Given the description of an element on the screen output the (x, y) to click on. 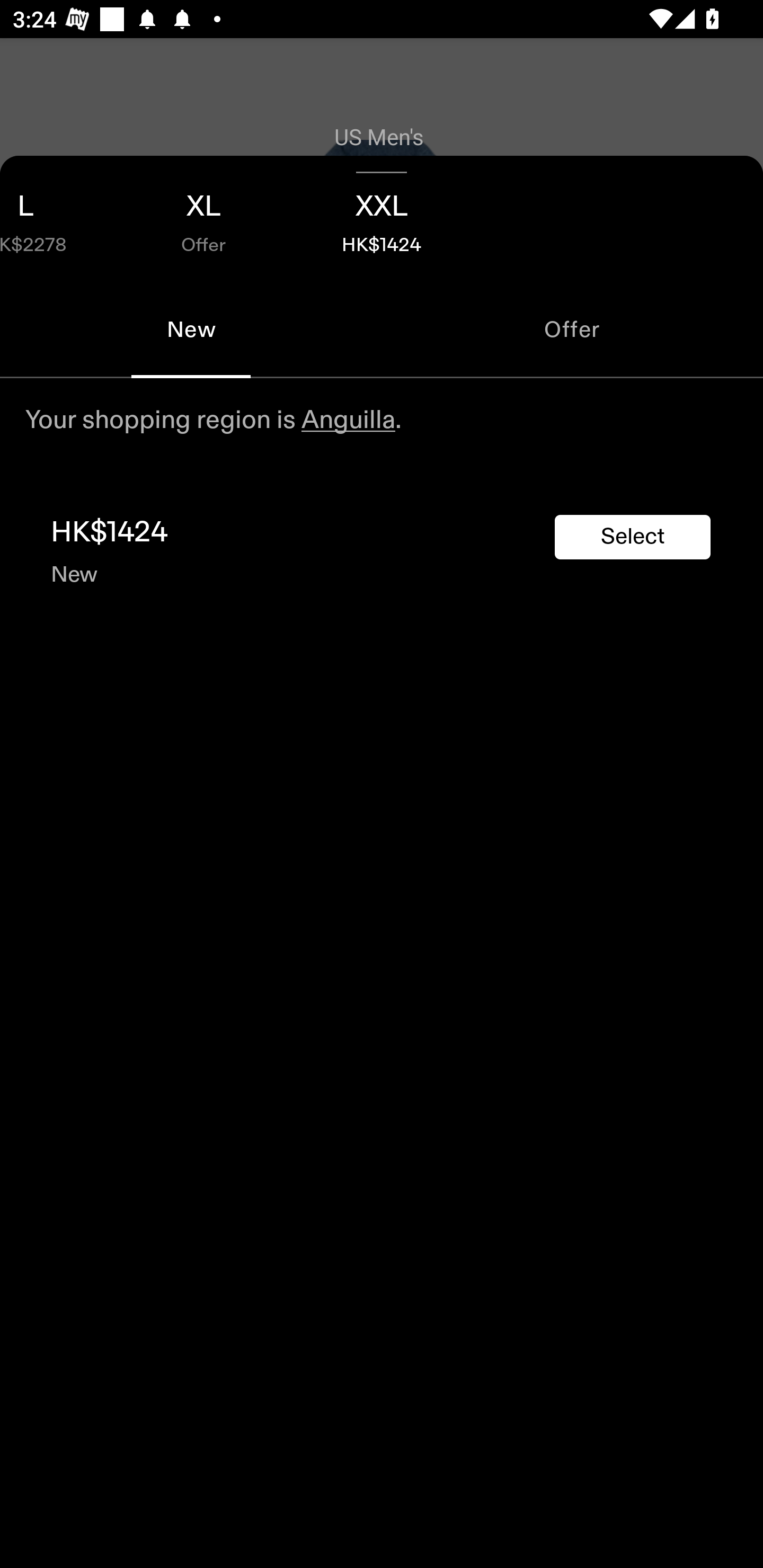
L HK$2278 (57, 218)
XL Offer (203, 218)
XXL HK$1424 (381, 218)
Offer (572, 329)
Select (632, 536)
